Given the description of an element on the screen output the (x, y) to click on. 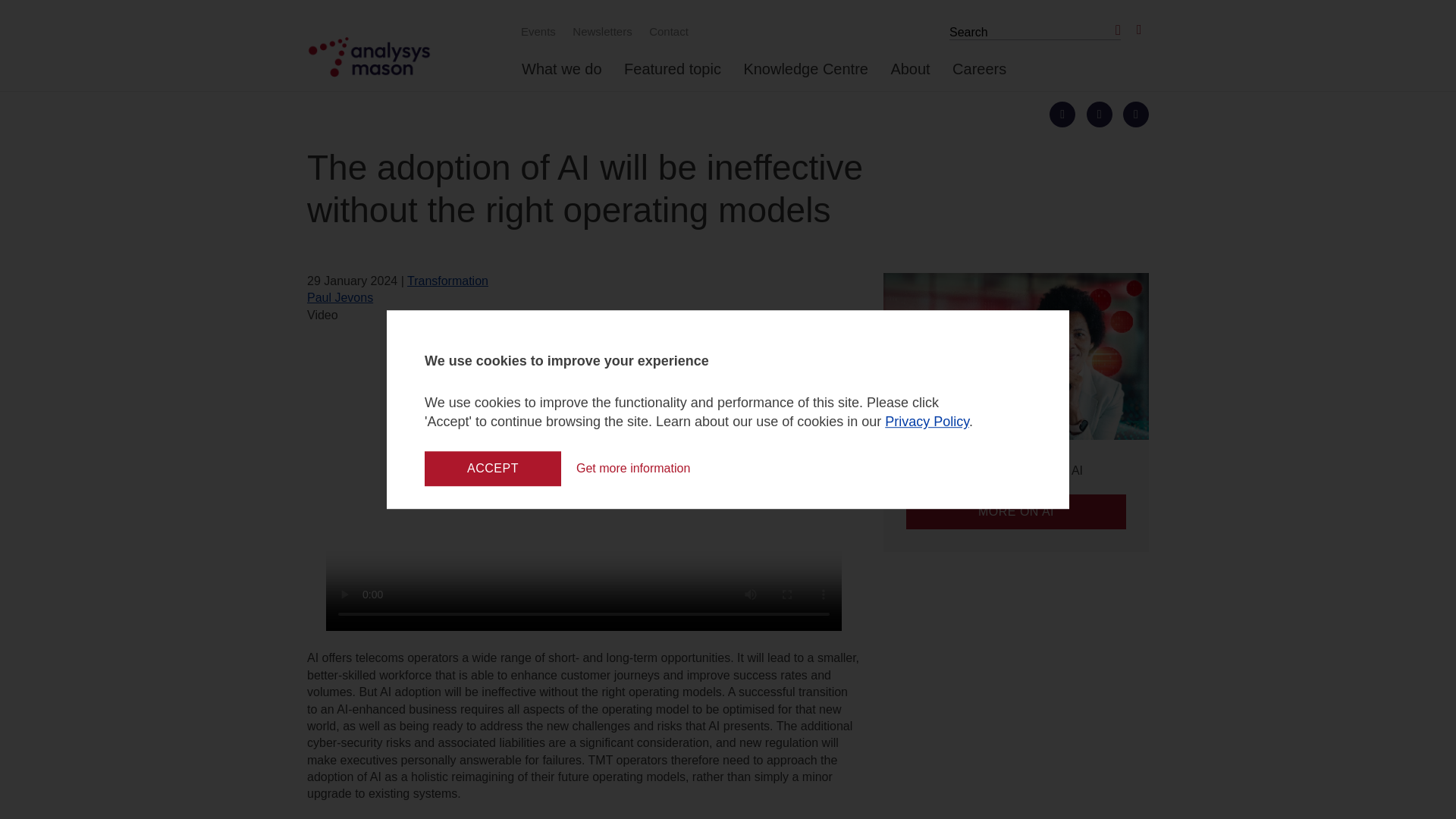
Featured topic (672, 75)
Knowledge Centre (805, 75)
Privacy Policy (927, 421)
Careers (978, 75)
Contact (666, 31)
Events (536, 31)
What we do (561, 75)
About (909, 75)
Newsletters (599, 31)
